Given the description of an element on the screen output the (x, y) to click on. 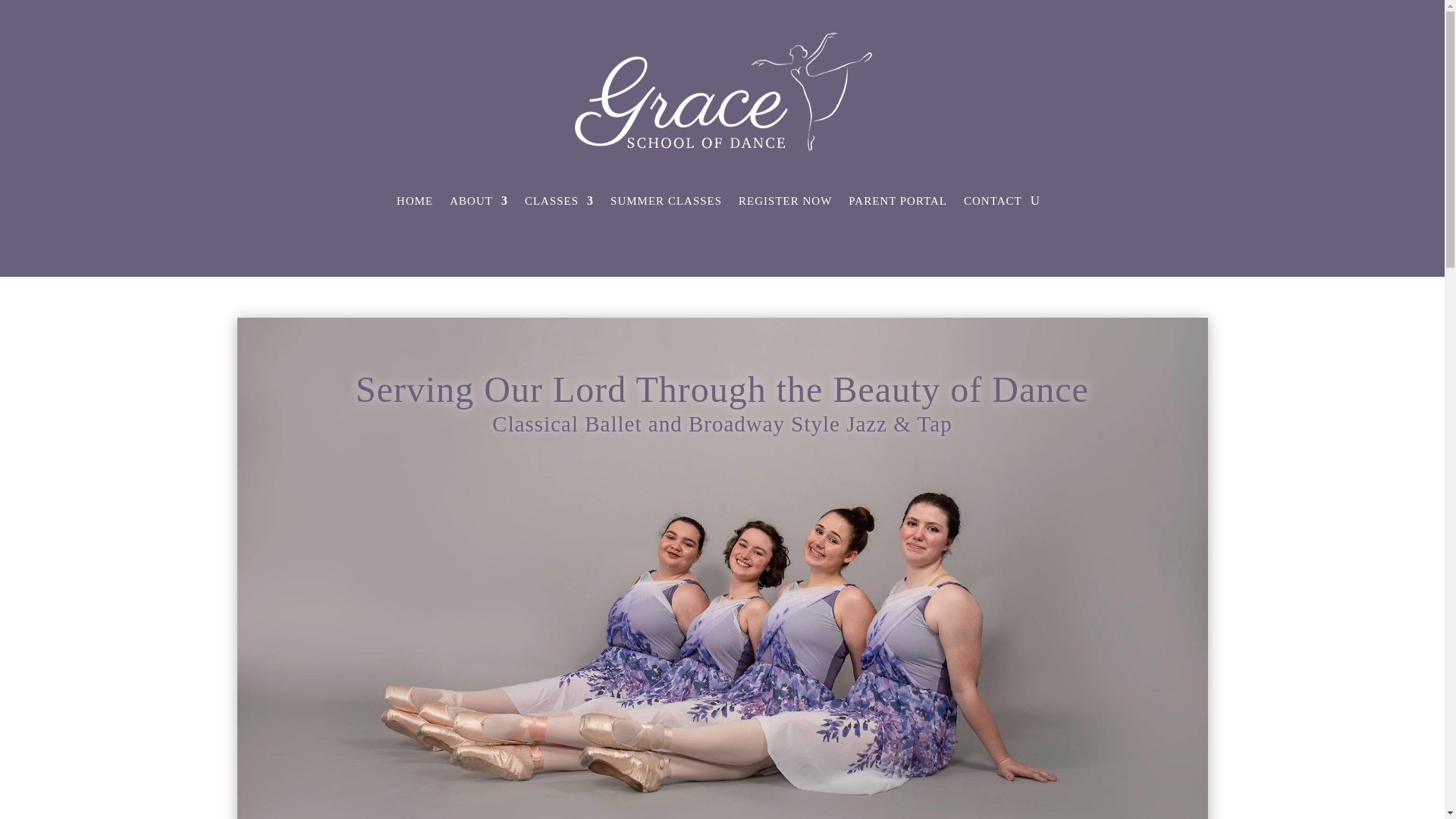
CONTACT (992, 200)
PARENT PORTAL (897, 200)
CLASSES (559, 200)
REGISTER NOW (784, 200)
ABOUT (478, 200)
SUMMER CLASSES (666, 200)
